Given the description of an element on the screen output the (x, y) to click on. 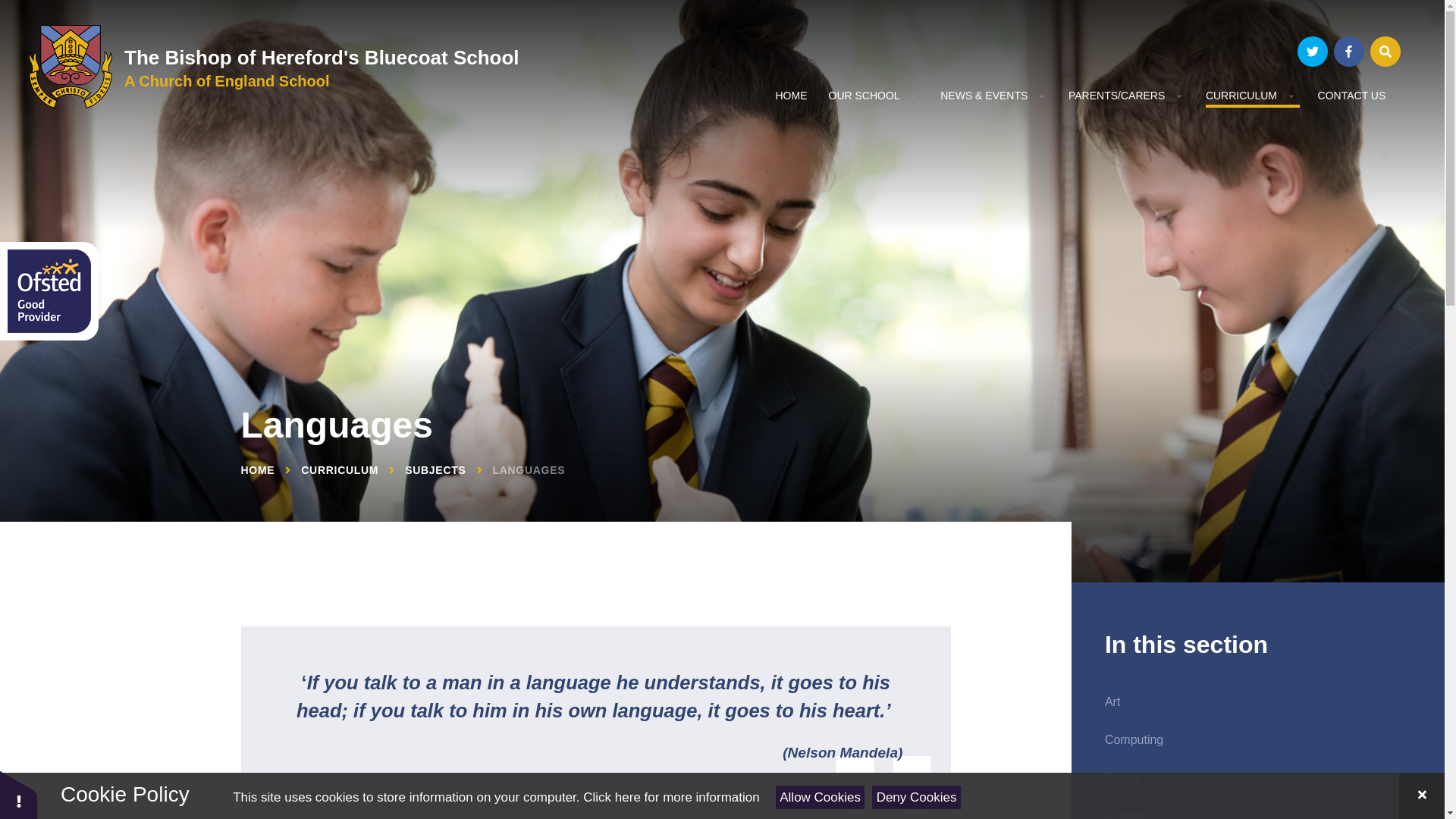
OUR SCHOOL (863, 95)
Deny Cookies (915, 797)
See cookie policy (670, 797)
Allow Cookies (820, 797)
HOME (790, 95)
